Given the description of an element on the screen output the (x, y) to click on. 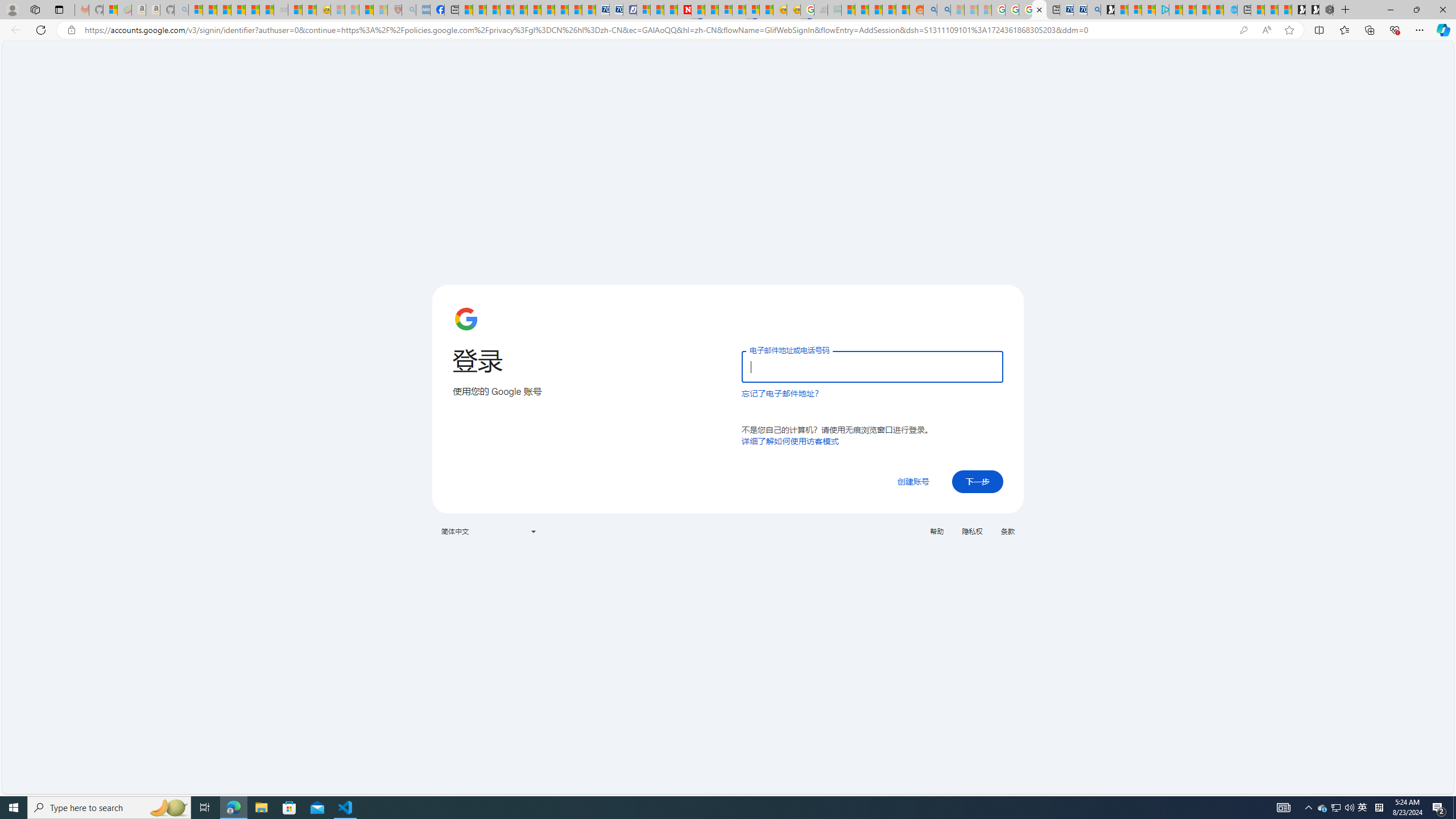
Student Loan Update: Forgiveness Program Ends This Month (889, 9)
